Given the description of an element on the screen output the (x, y) to click on. 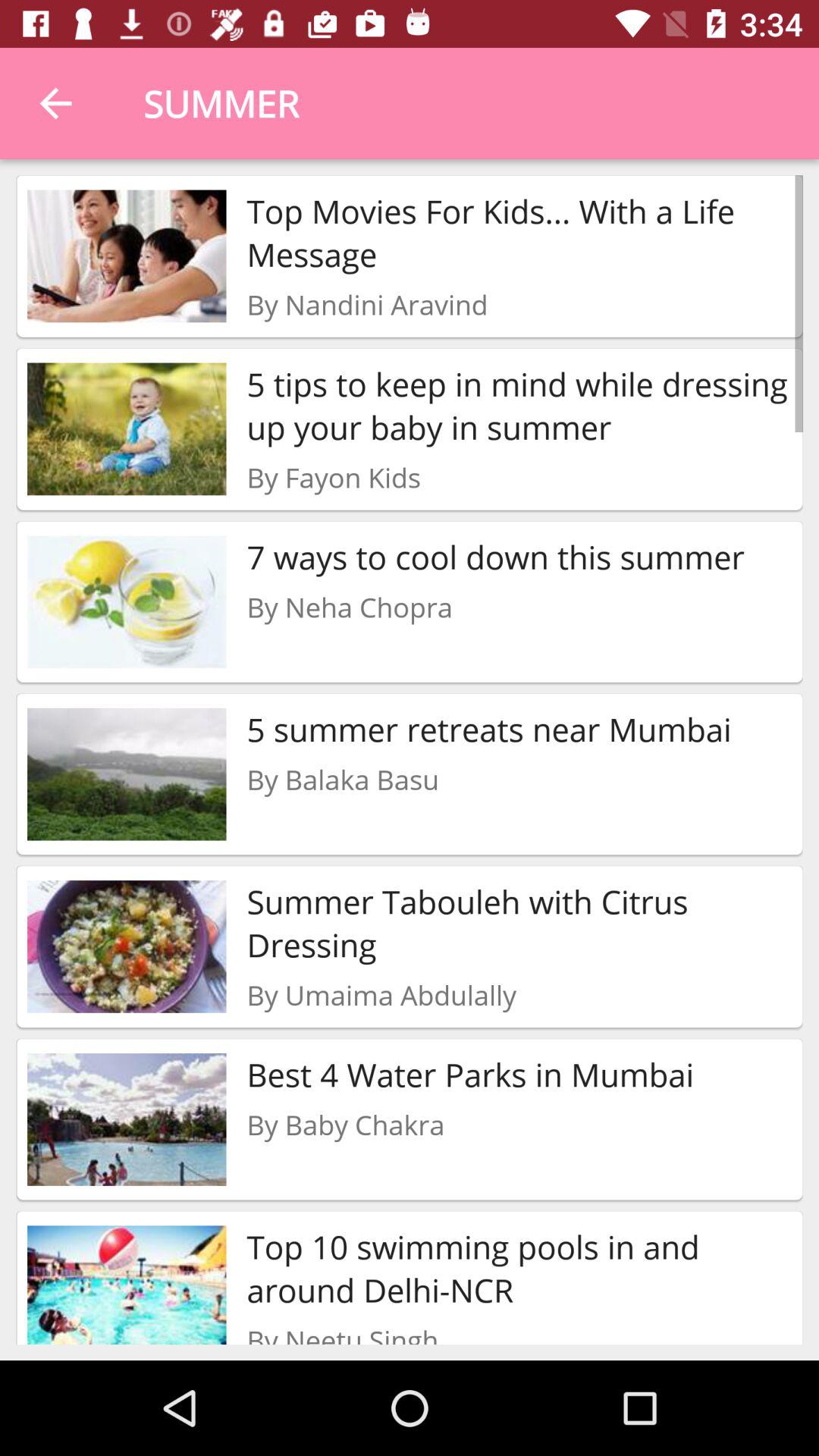
swipe to top movies for item (519, 232)
